Given the description of an element on the screen output the (x, y) to click on. 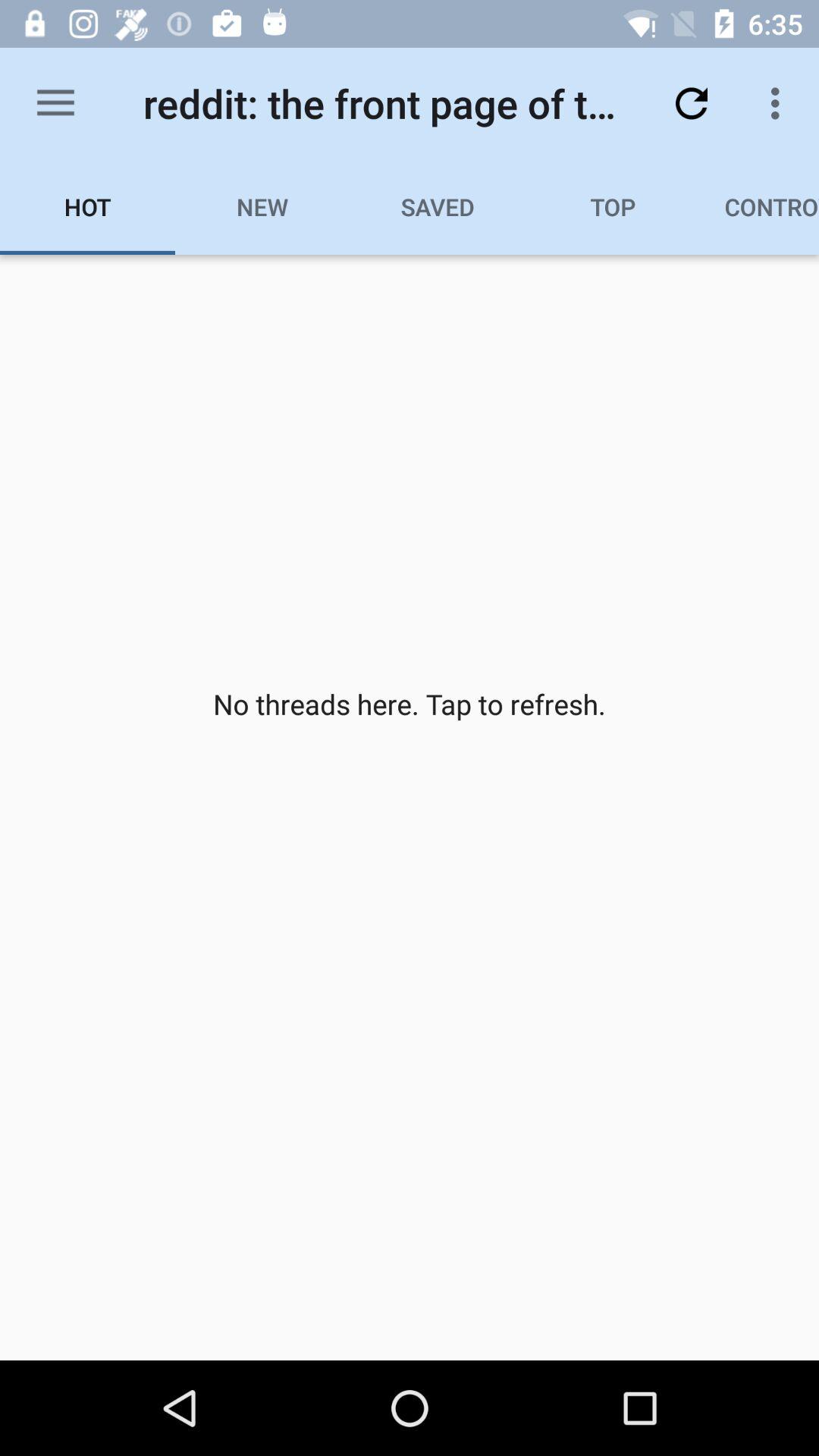
launch the item next to the reddit the front (55, 103)
